Given the description of an element on the screen output the (x, y) to click on. 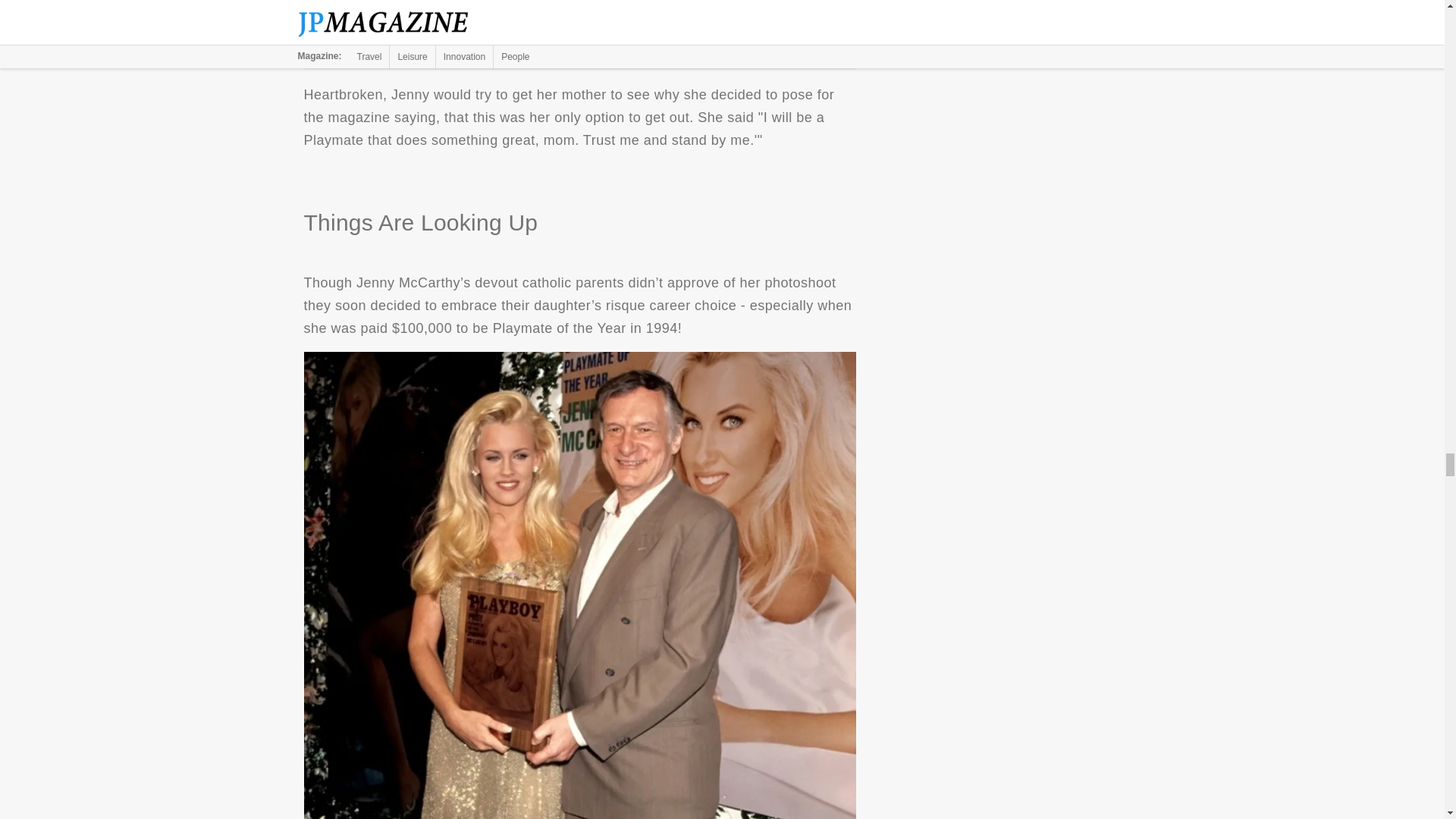
A Nude Awakening (579, 28)
